Given the description of an element on the screen output the (x, y) to click on. 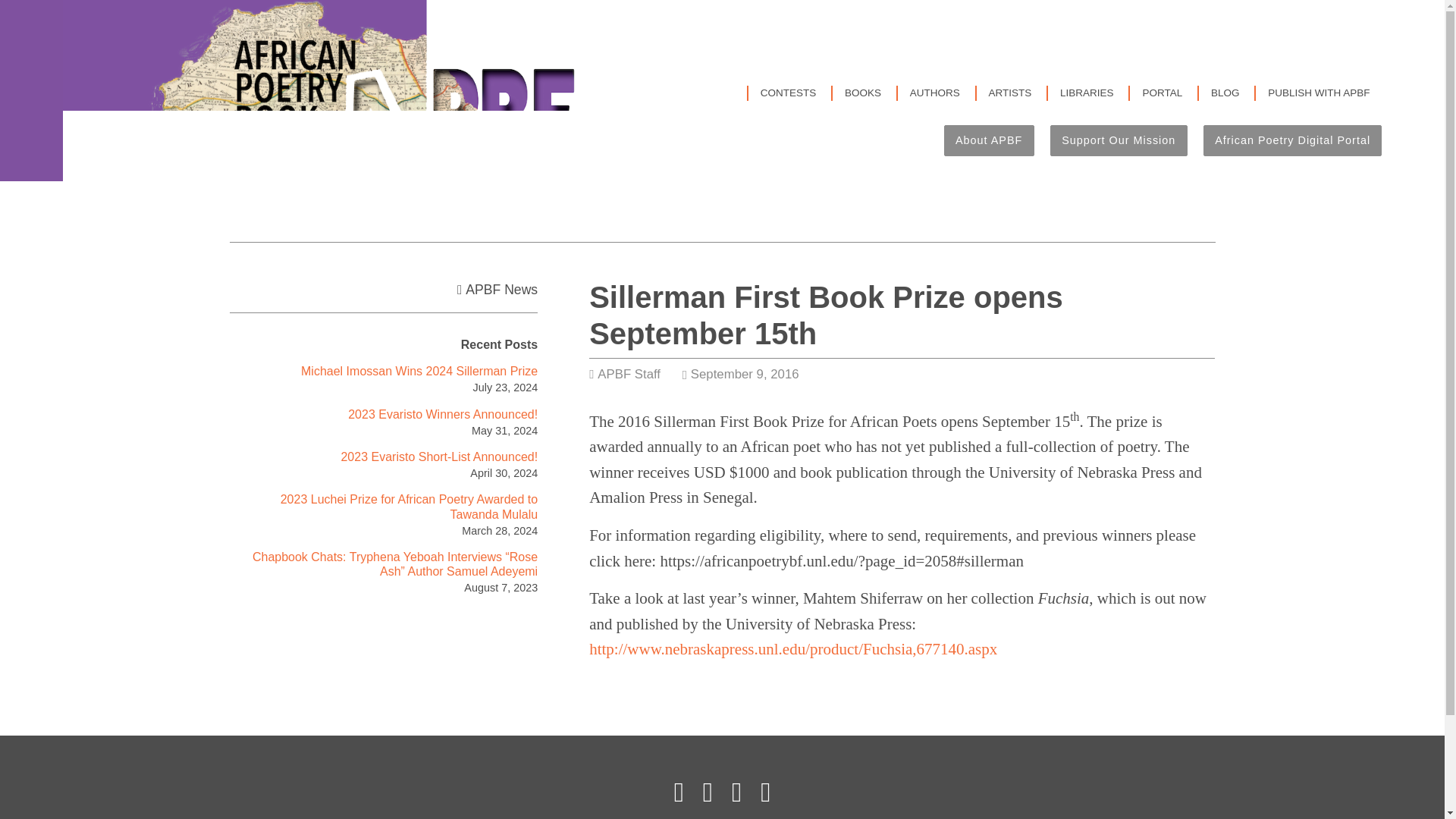
PUBLISH WITH APBF (1319, 92)
BLOG (1225, 92)
LIBRARIES (1086, 92)
Michael Imossan Wins 2024 Sillerman Prize (419, 370)
African Poetry Book Fund (328, 90)
Support Our Mission (1118, 140)
ARTISTS (1010, 92)
APBF News (501, 289)
2023 Evaristo Short-List Announced! (438, 456)
BOOKS (862, 92)
